Given the description of an element on the screen output the (x, y) to click on. 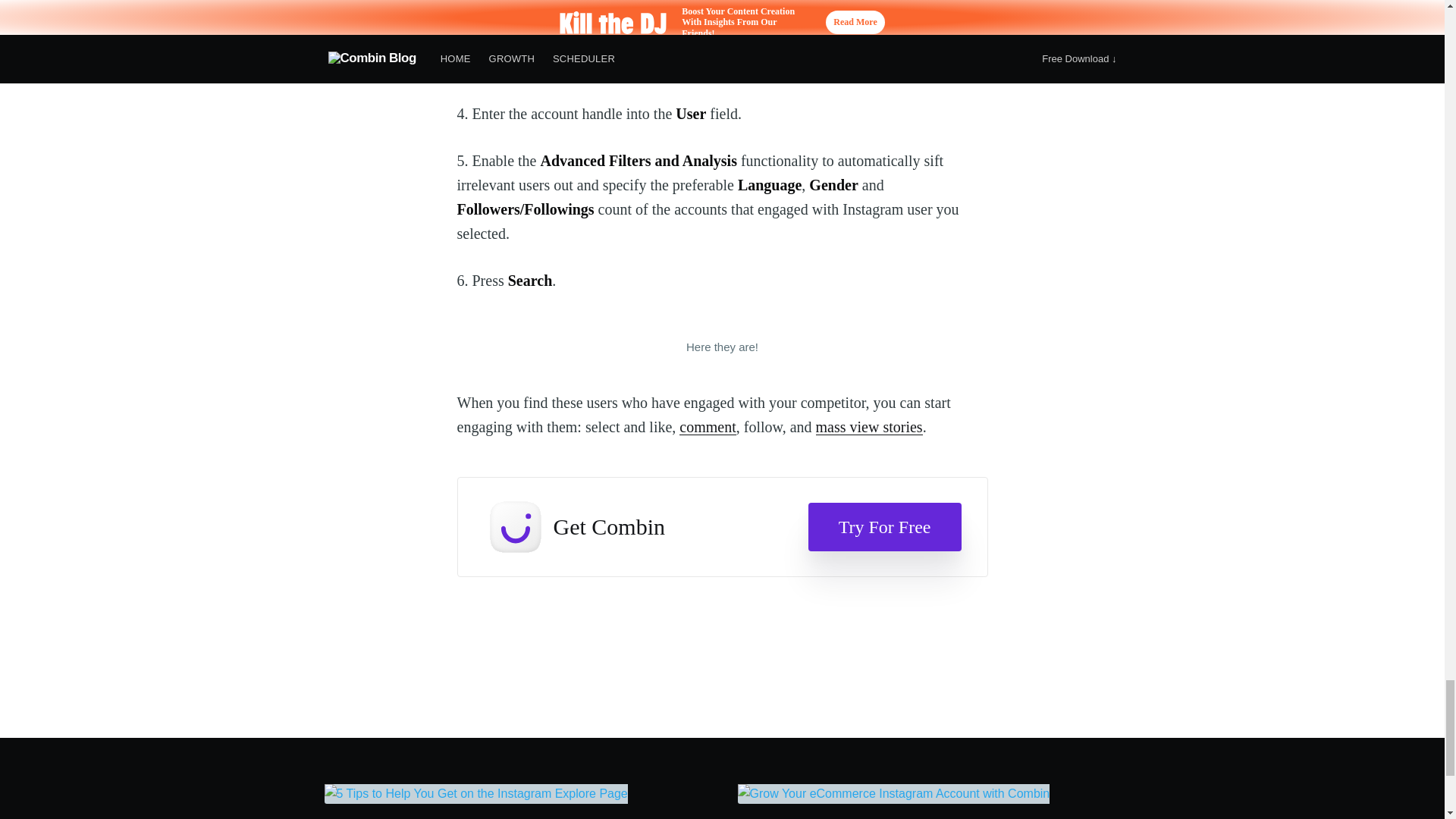
mass view stories (869, 426)
comment (707, 426)
Try For Free (884, 526)
